Given the description of an element on the screen output the (x, y) to click on. 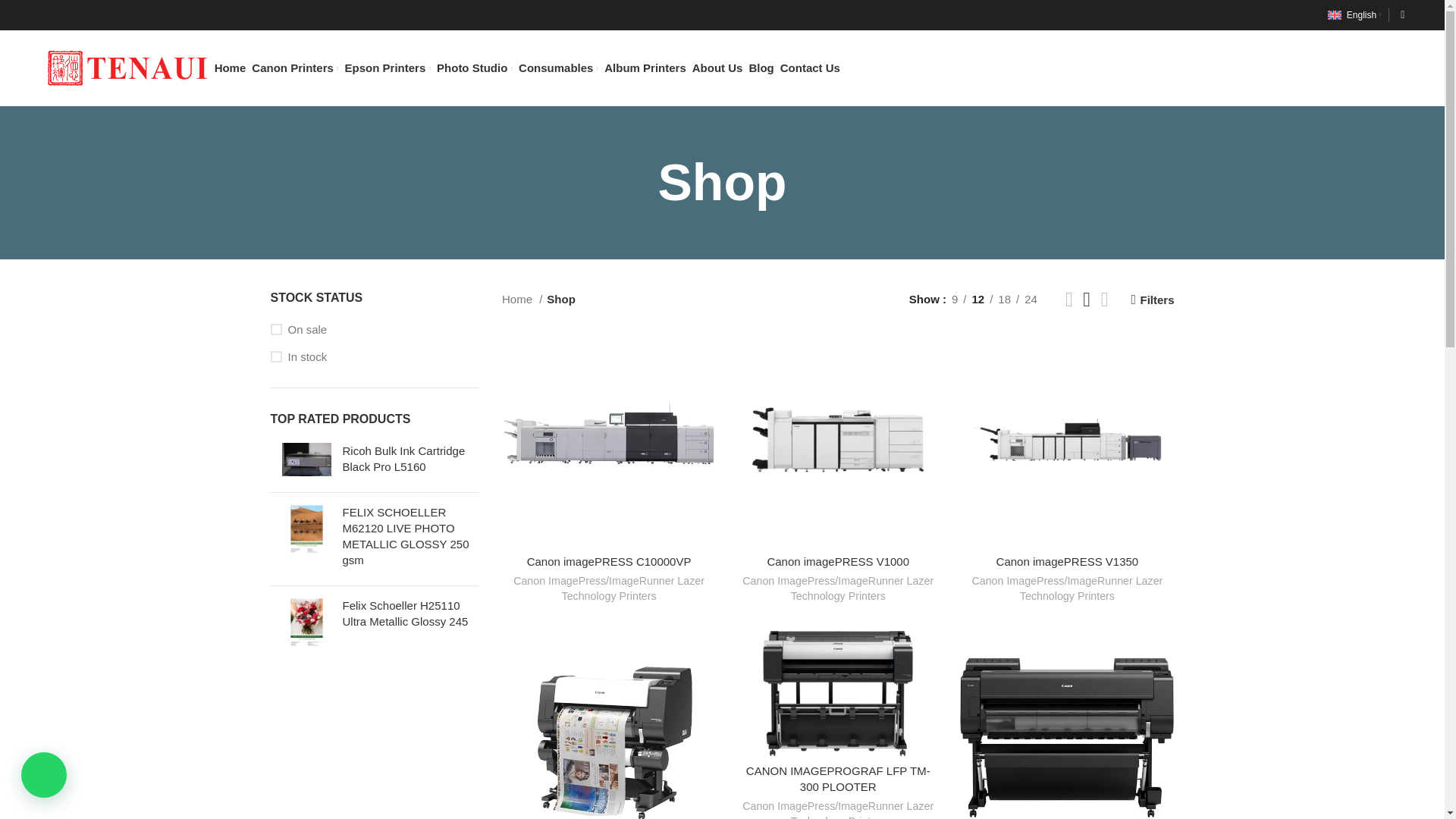
Home (230, 68)
Felix Schoeller H25110 Ultra Metallic Glossy 245 (306, 622)
Contact Us (810, 68)
FELIX SCHOELLER M62120 LIVE PHOTO METALLIC GLOSSY 250 gsm (411, 536)
Ricoh Bulk Ink Cartridge Black Pro L5160 (306, 461)
English (1351, 15)
Epson Printers (387, 68)
Felix Schoeller H25110 Ultra Metallic Glossy 245 (411, 613)
Ricoh Bulk Ink Cartridge Black Pro L5160 (411, 459)
On sale (374, 329)
